Given the description of an element on the screen output the (x, y) to click on. 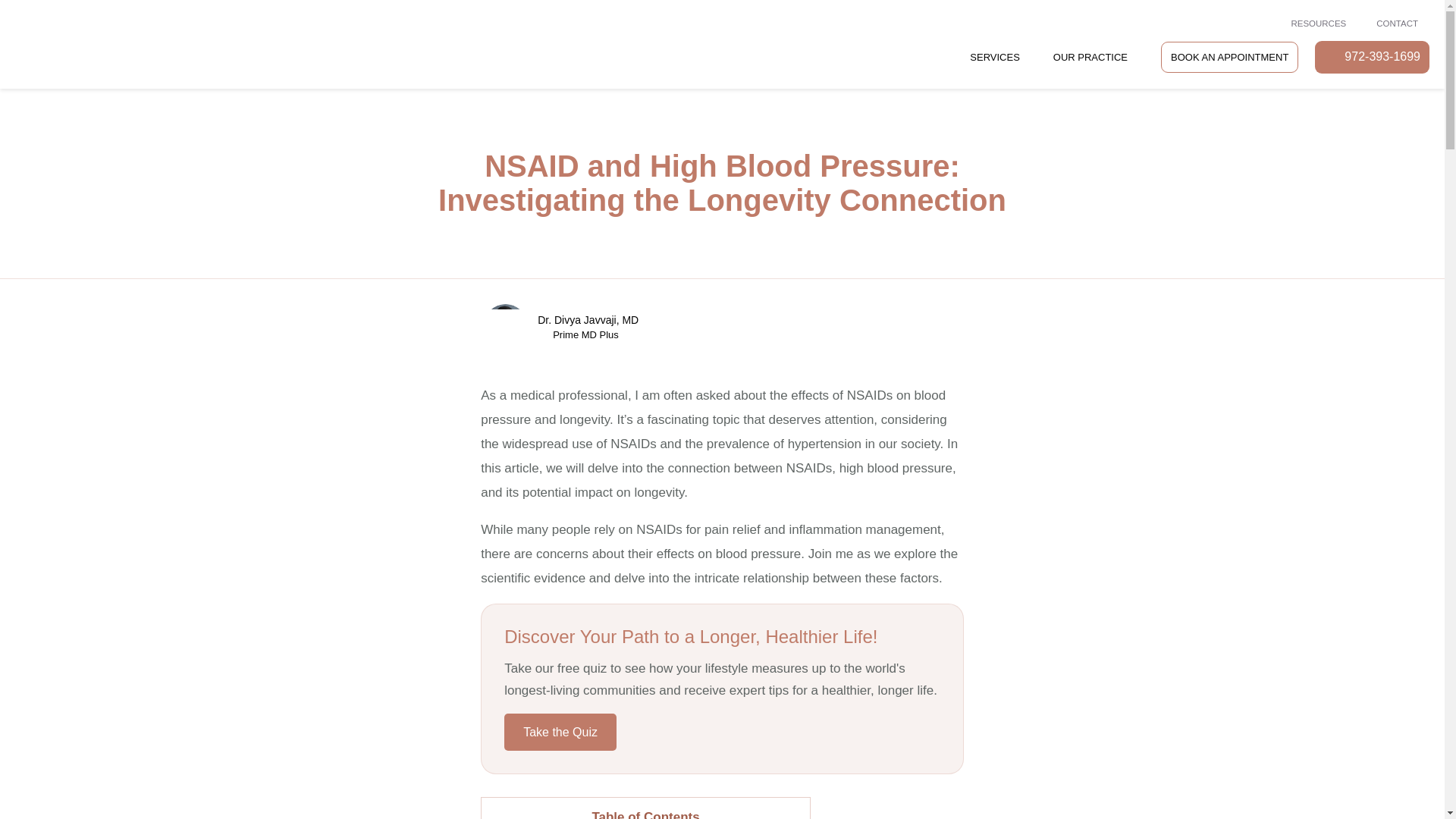
BOOK AN APPOINTMENT (1229, 56)
RESOURCES (1313, 24)
OUR PRACTICE (1089, 56)
CONTACT (1393, 24)
Take the Quiz (559, 732)
972-393-1699 (1371, 56)
SERVICES (994, 56)
